Given the description of an element on the screen output the (x, y) to click on. 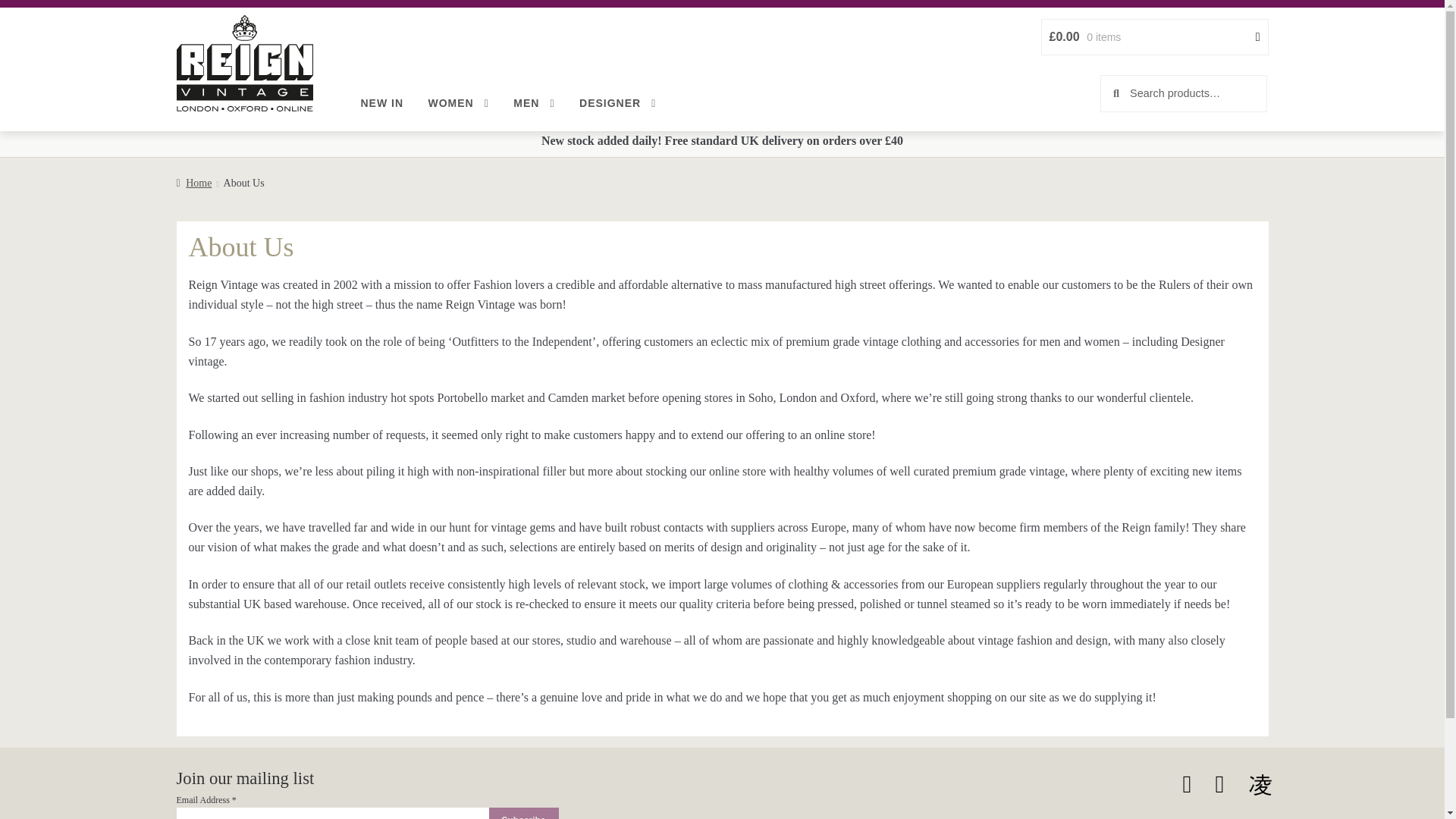
Subscribe (522, 813)
MEN (533, 103)
Reign Vintage (244, 63)
View your shopping basket (1155, 36)
WOMEN (458, 103)
NEW IN (382, 103)
